Given the description of an element on the screen output the (x, y) to click on. 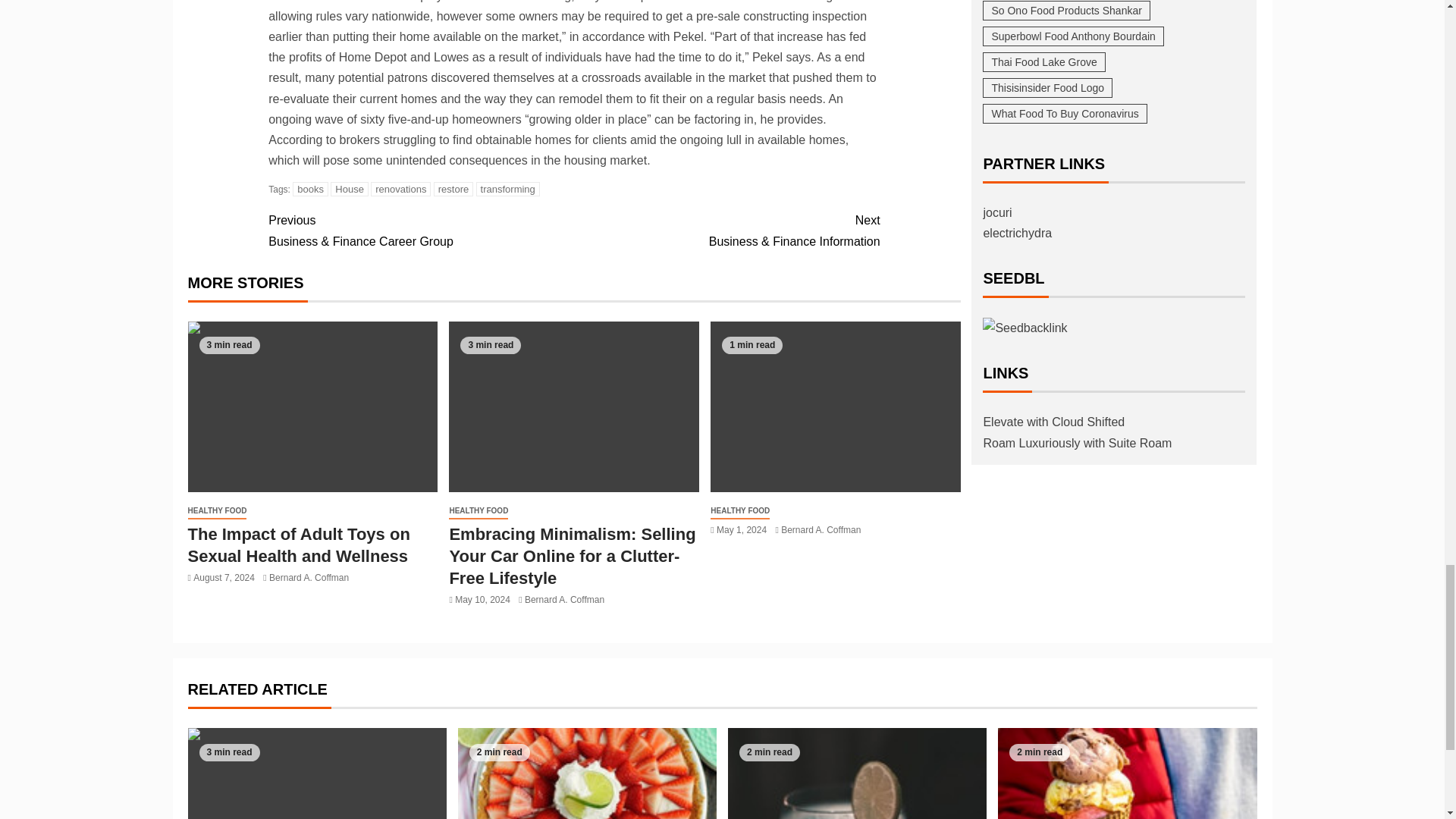
The Impact of Adult Toys on Sexual Health and Wellness (312, 406)
